Given the description of an element on the screen output the (x, y) to click on. 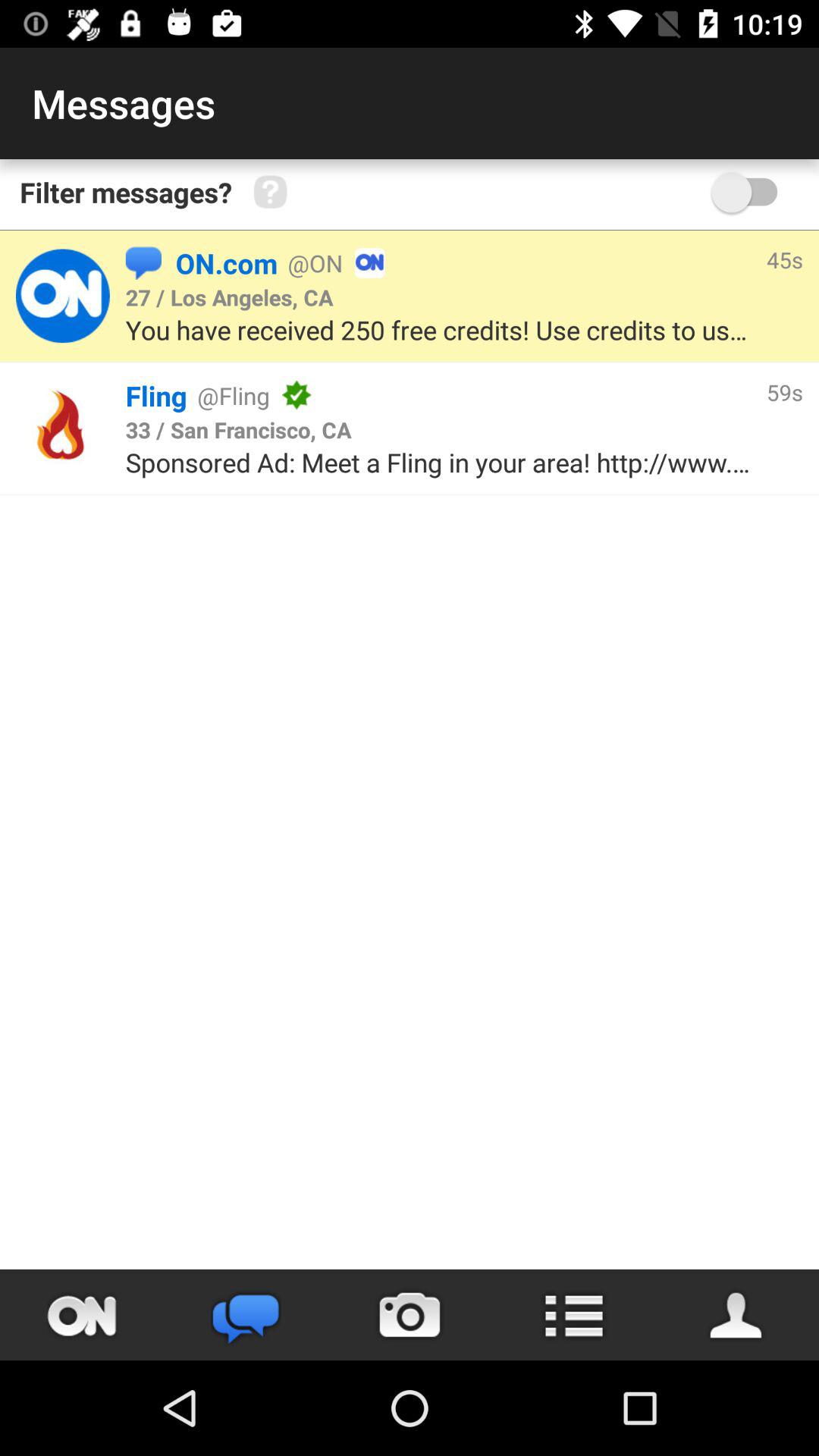
use camera (409, 1315)
